Given the description of an element on the screen output the (x, y) to click on. 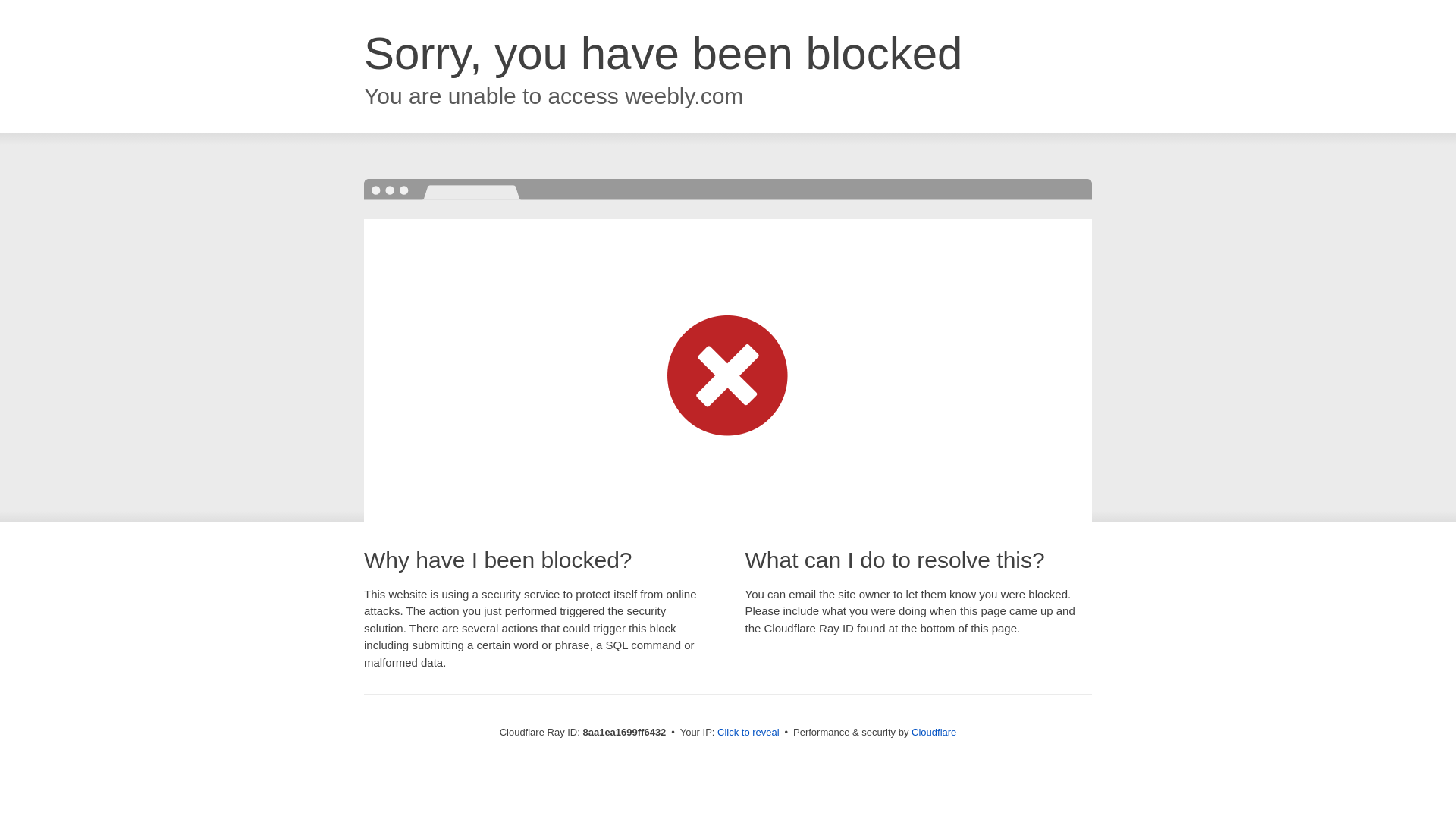
Click to reveal (747, 732)
Cloudflare (933, 731)
